Given the description of an element on the screen output the (x, y) to click on. 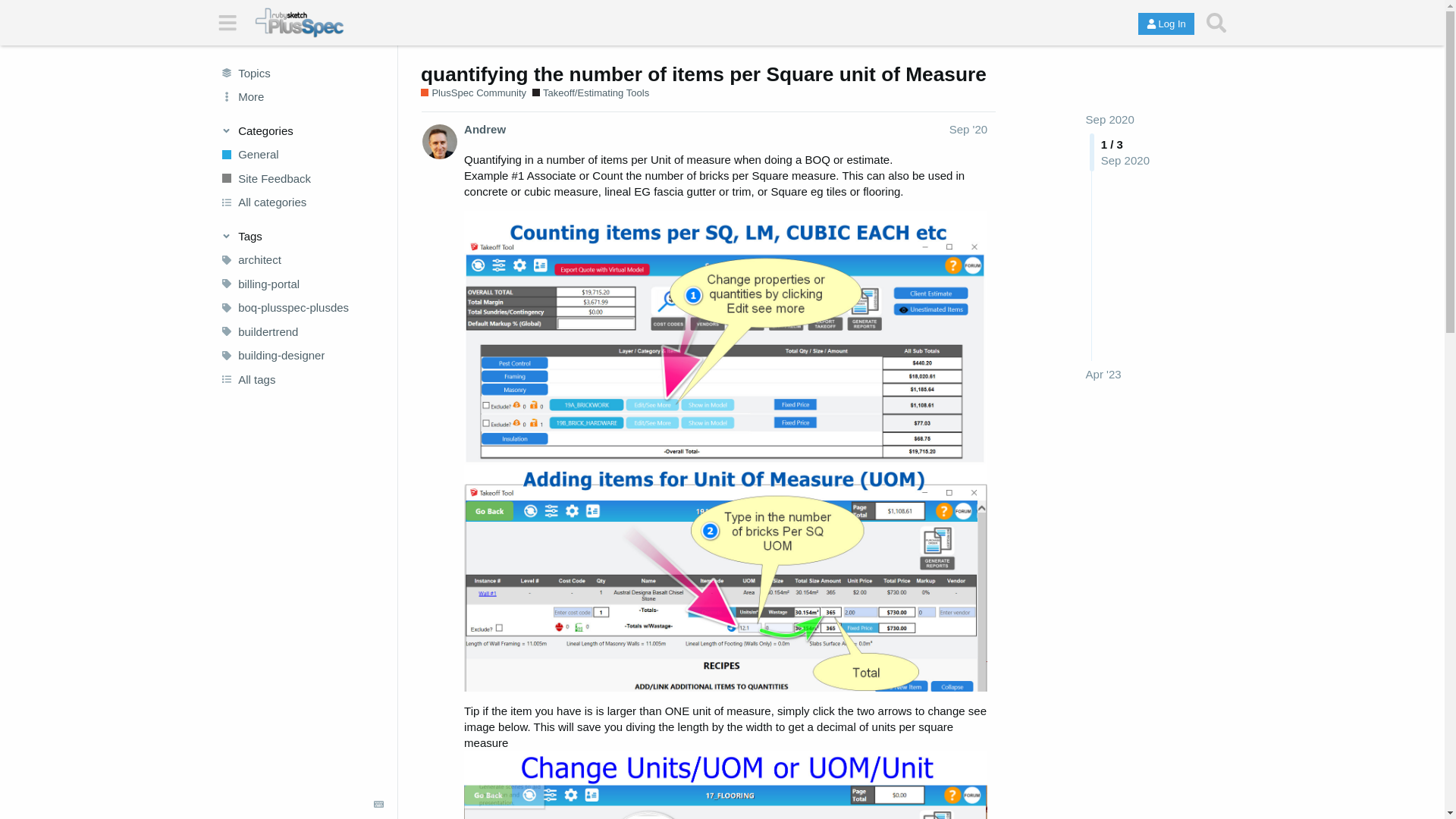
Keyboard Shortcuts (378, 805)
Tags (301, 235)
Toggle section (301, 130)
Post date (968, 128)
buildertrend (301, 331)
Apr 3, 2023 1:04 pm (1103, 373)
General (301, 154)
Toggle section (301, 235)
Sep '20 (968, 128)
PlusSpec Community (472, 92)
Search (1215, 22)
quantifying the number of items per Square unit of Measure (703, 74)
boq-plusspec-plusdes (301, 307)
All tags (301, 379)
